Given the description of an element on the screen output the (x, y) to click on. 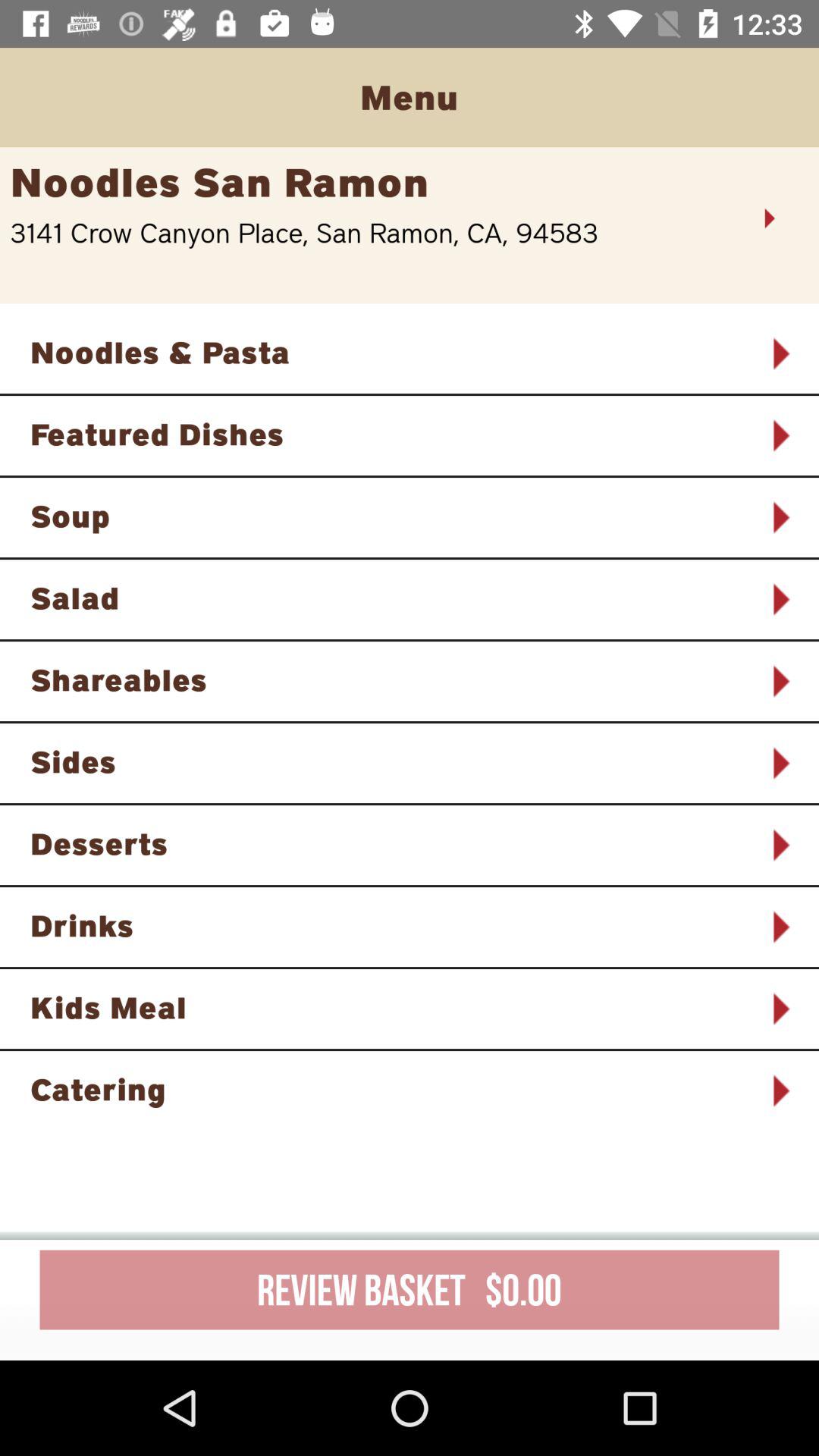
press the shareables  item (390, 679)
